Given the description of an element on the screen output the (x, y) to click on. 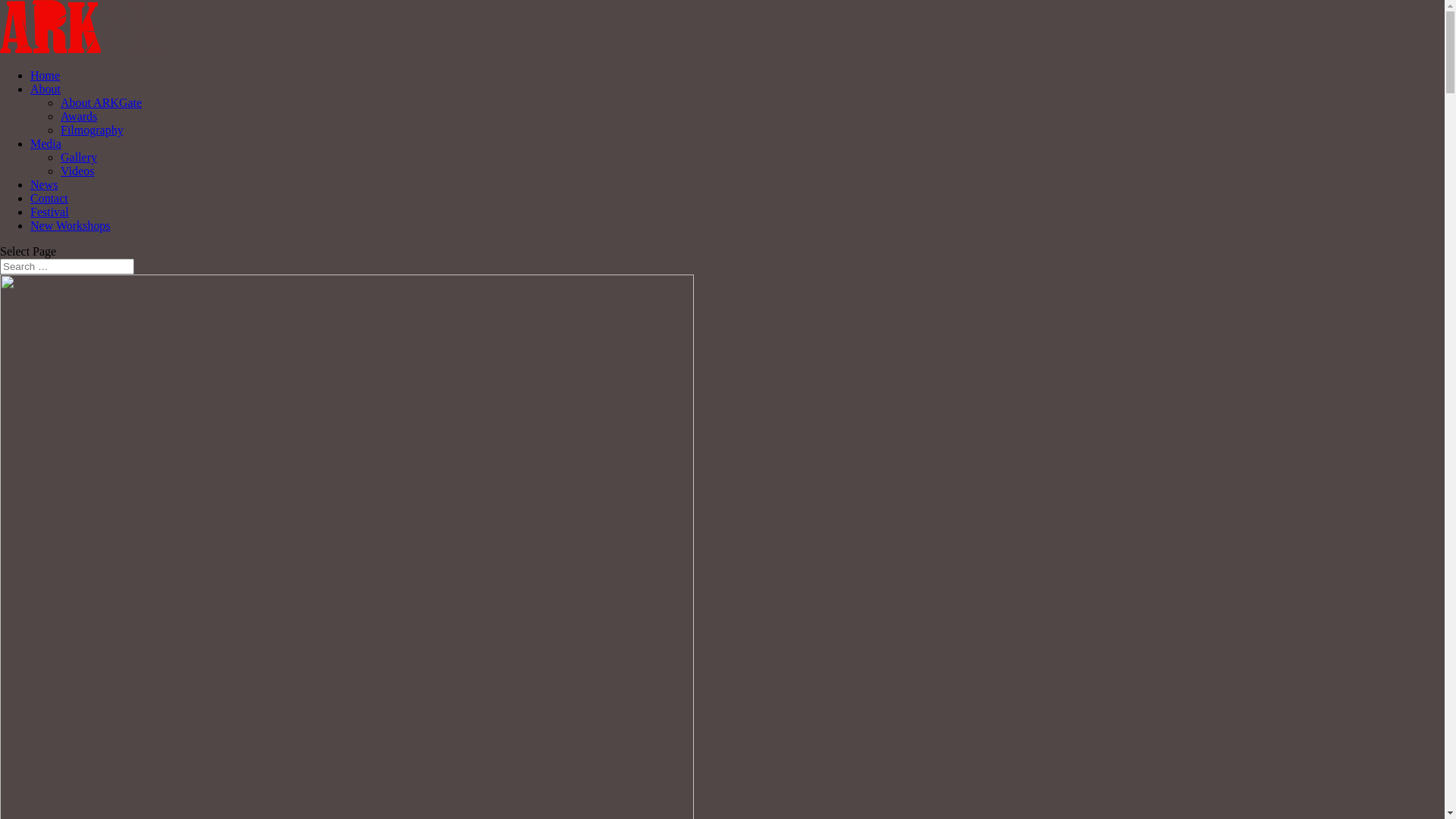
Search for: Element type: hover (67, 266)
News Element type: text (43, 184)
About ARKGate Element type: text (100, 102)
Gallery Element type: text (78, 156)
About Element type: text (45, 88)
Contact Element type: text (49, 197)
Videos Element type: text (77, 170)
Festival Element type: text (49, 211)
Home Element type: text (44, 75)
Filmography Element type: text (91, 129)
Media Element type: text (45, 143)
Awards Element type: text (78, 115)
New Workshops Element type: text (70, 225)
